Given the description of an element on the screen output the (x, y) to click on. 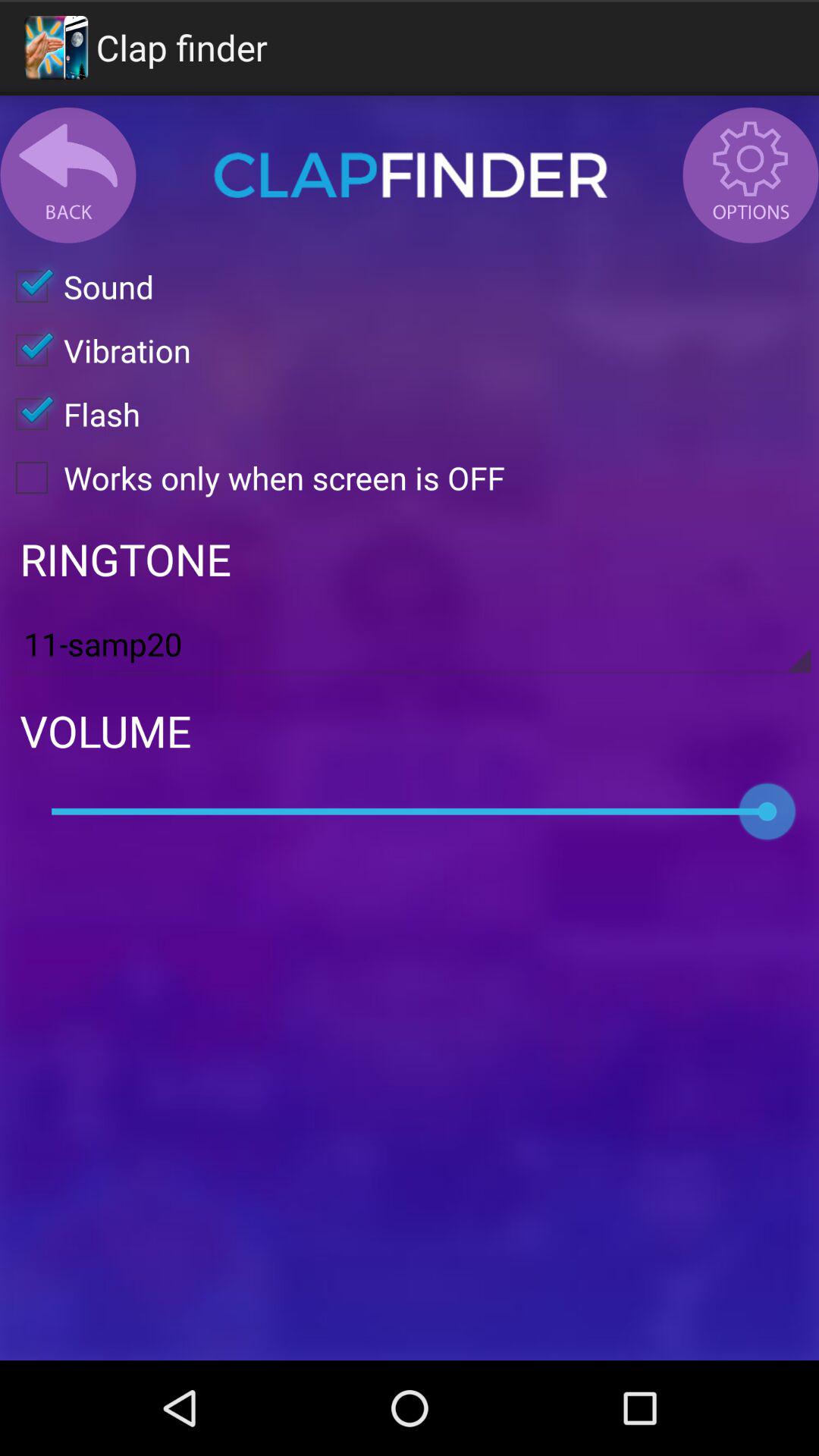
flip until vibration (95, 350)
